Given the description of an element on the screen output the (x, y) to click on. 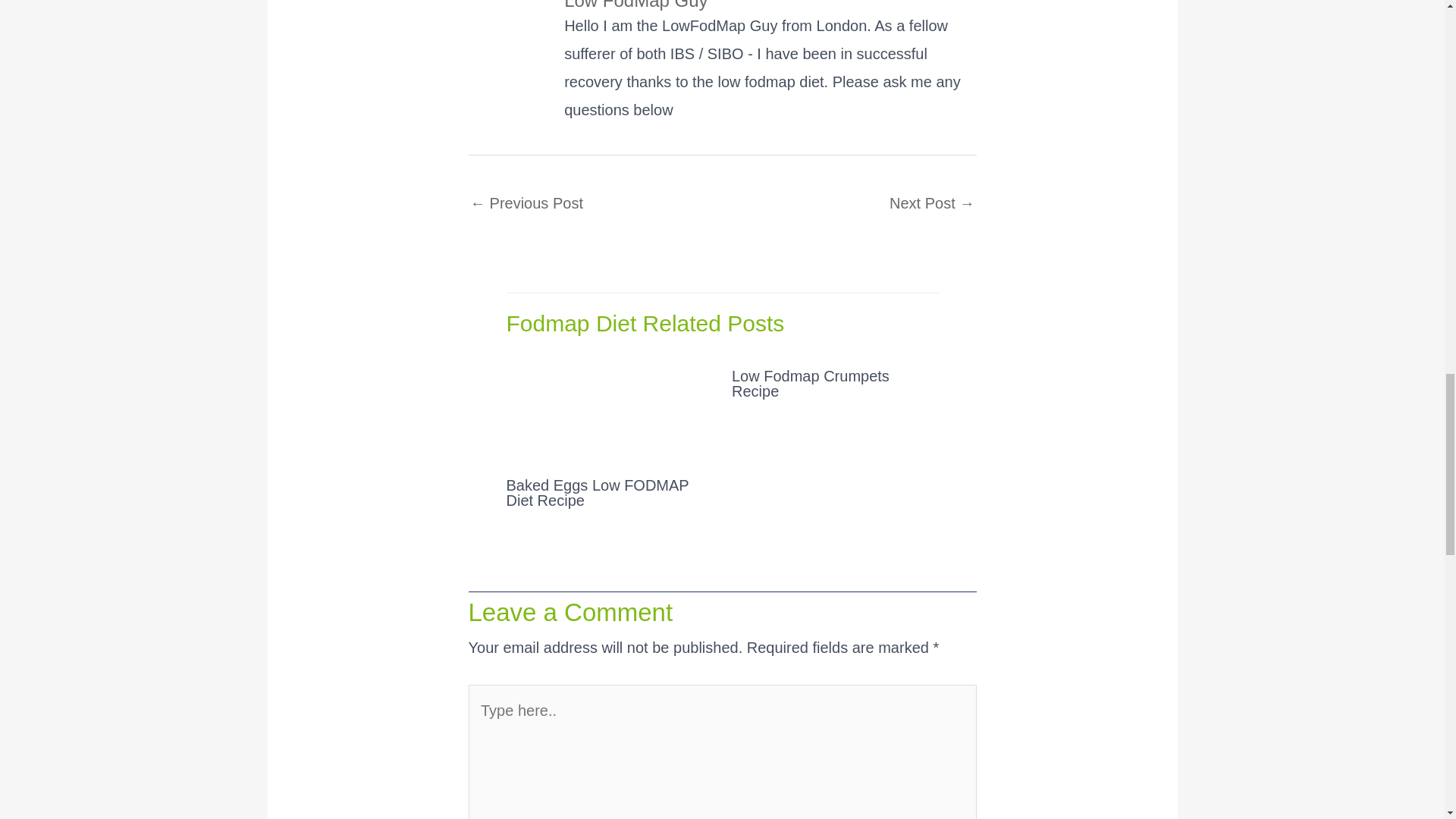
Low FodMap Guy (769, 6)
Coffee on the Low FODMAP Diet Guide (526, 204)
Low Fodmap Crumpets Recipe (810, 383)
Baked Eggs Low FODMAP Diet Recipe (597, 492)
Yoga Poses for IBS Fodmap Stress (931, 204)
